Given the description of an element on the screen output the (x, y) to click on. 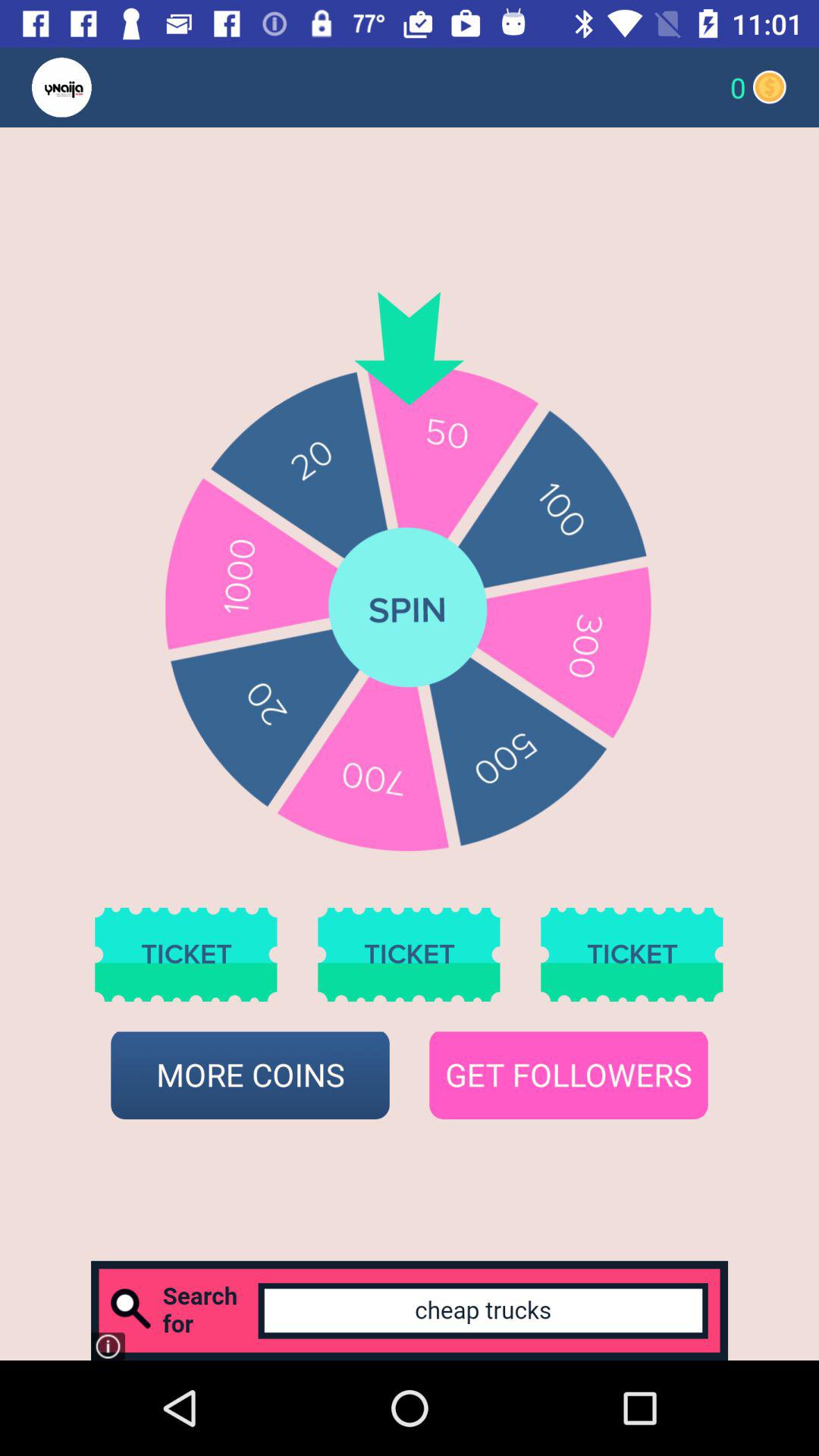
scroll to the more coins (249, 1075)
